Given the description of an element on the screen output the (x, y) to click on. 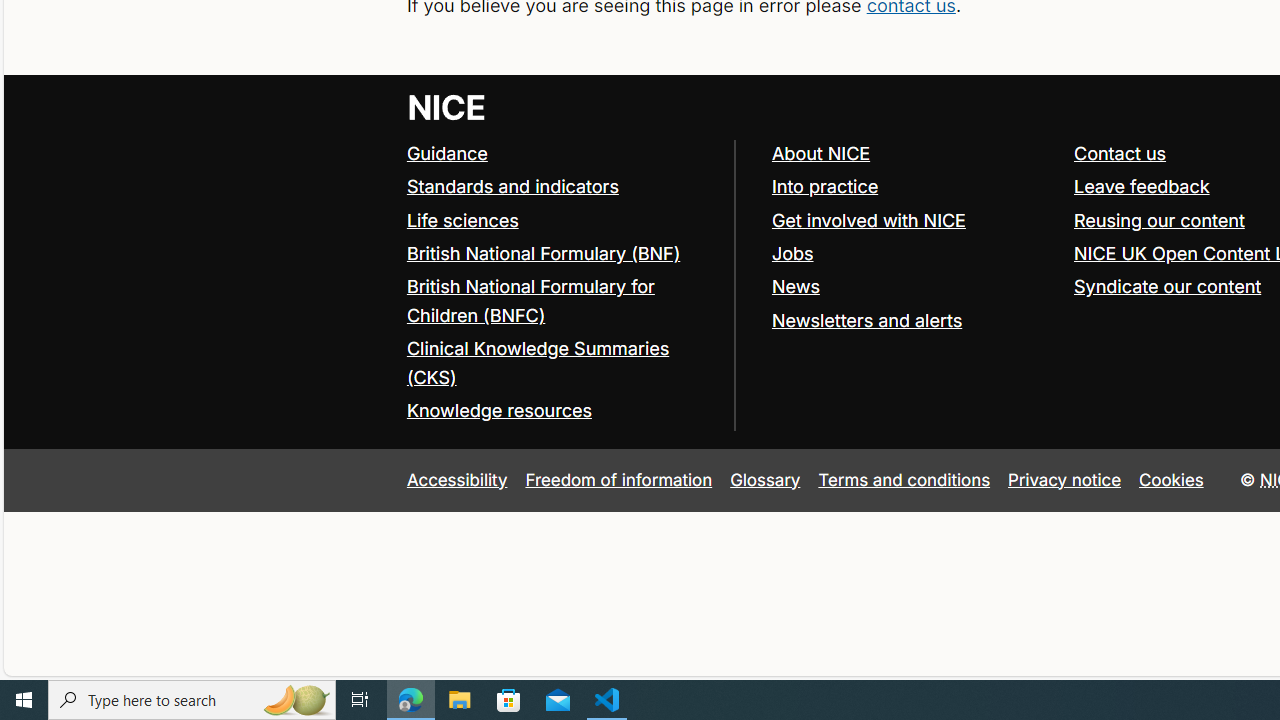
British National Formulary for Children (BNFC) (560, 301)
Newsletters and alerts (866, 319)
Into practice (824, 186)
Knowledge resources (498, 410)
Jobs (792, 252)
British National Formulary for Children (BNFC) (530, 300)
Privacy notice (1065, 479)
Terms and conditions (903, 479)
